Given the description of an element on the screen output the (x, y) to click on. 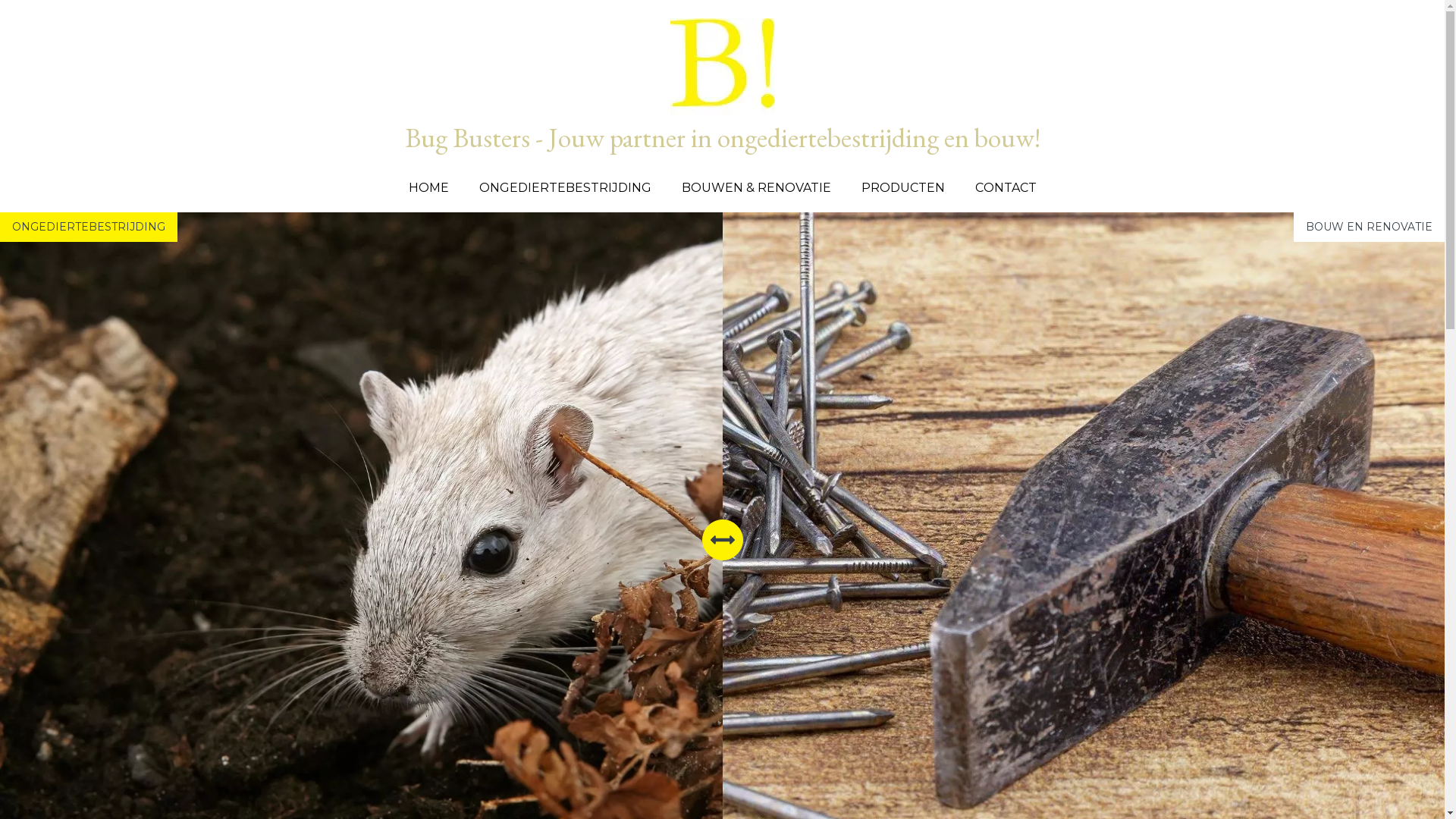
CONTACT Element type: text (1005, 187)
PRODUCTEN Element type: text (903, 187)
ONGEDIERTEBESTRIJDING Element type: text (88, 226)
HOME Element type: text (427, 187)
ONGEDIERTEBESTRIJDING Element type: text (565, 187)
BOUWEN & RENOVATIE Element type: text (755, 187)
BOUW EN RENOVATIE Element type: text (1368, 226)
Bug Busters - Jouw partner in ongediertebestrijding en bouw! Element type: text (722, 81)
